Given the description of an element on the screen output the (x, y) to click on. 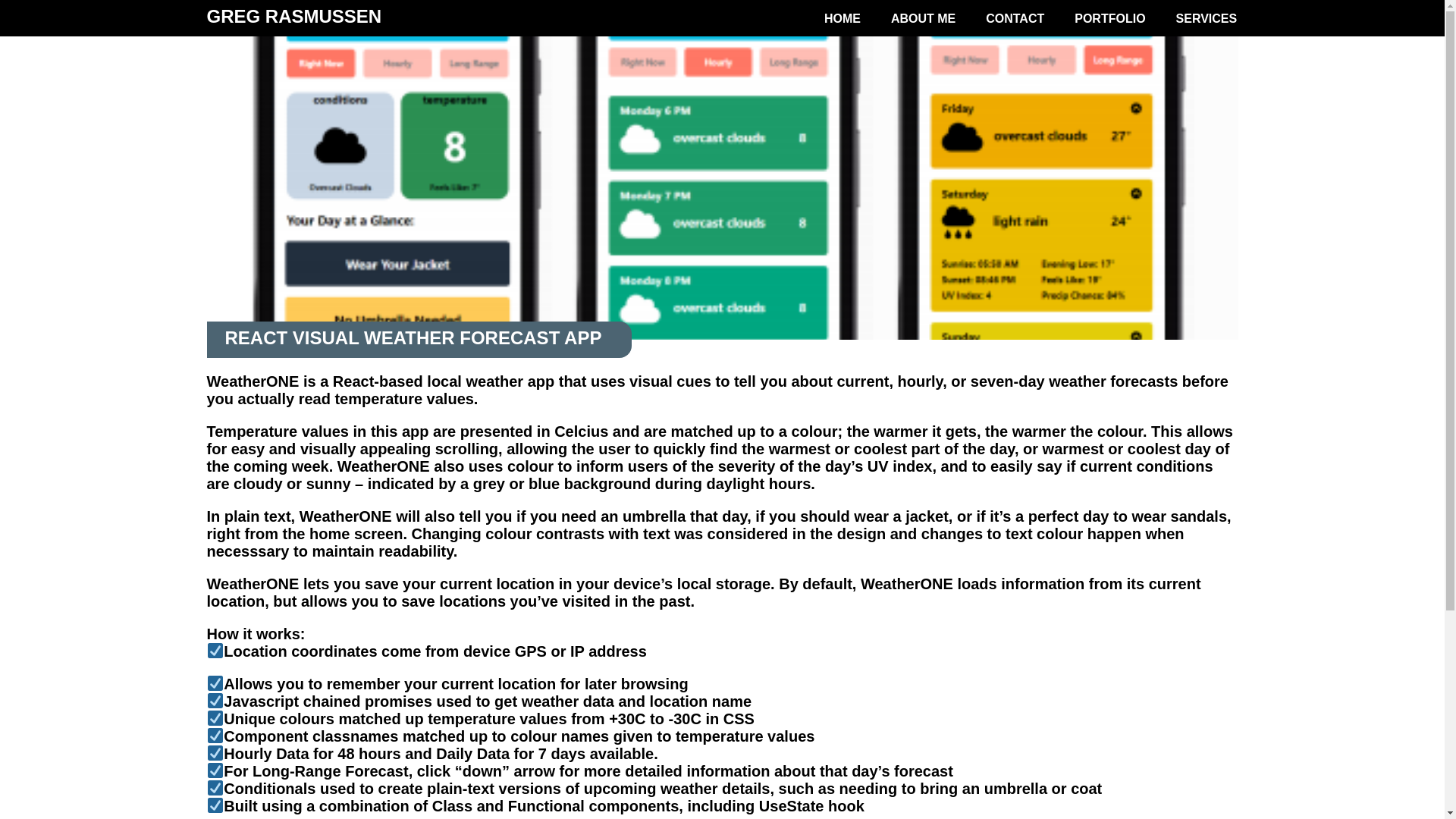
PORTFOLIO (1112, 15)
SERVICES (1209, 15)
GREG RASMUSSEN (293, 15)
HOME (845, 15)
CONTACT (1018, 15)
ABOUT ME (926, 15)
